Given the description of an element on the screen output the (x, y) to click on. 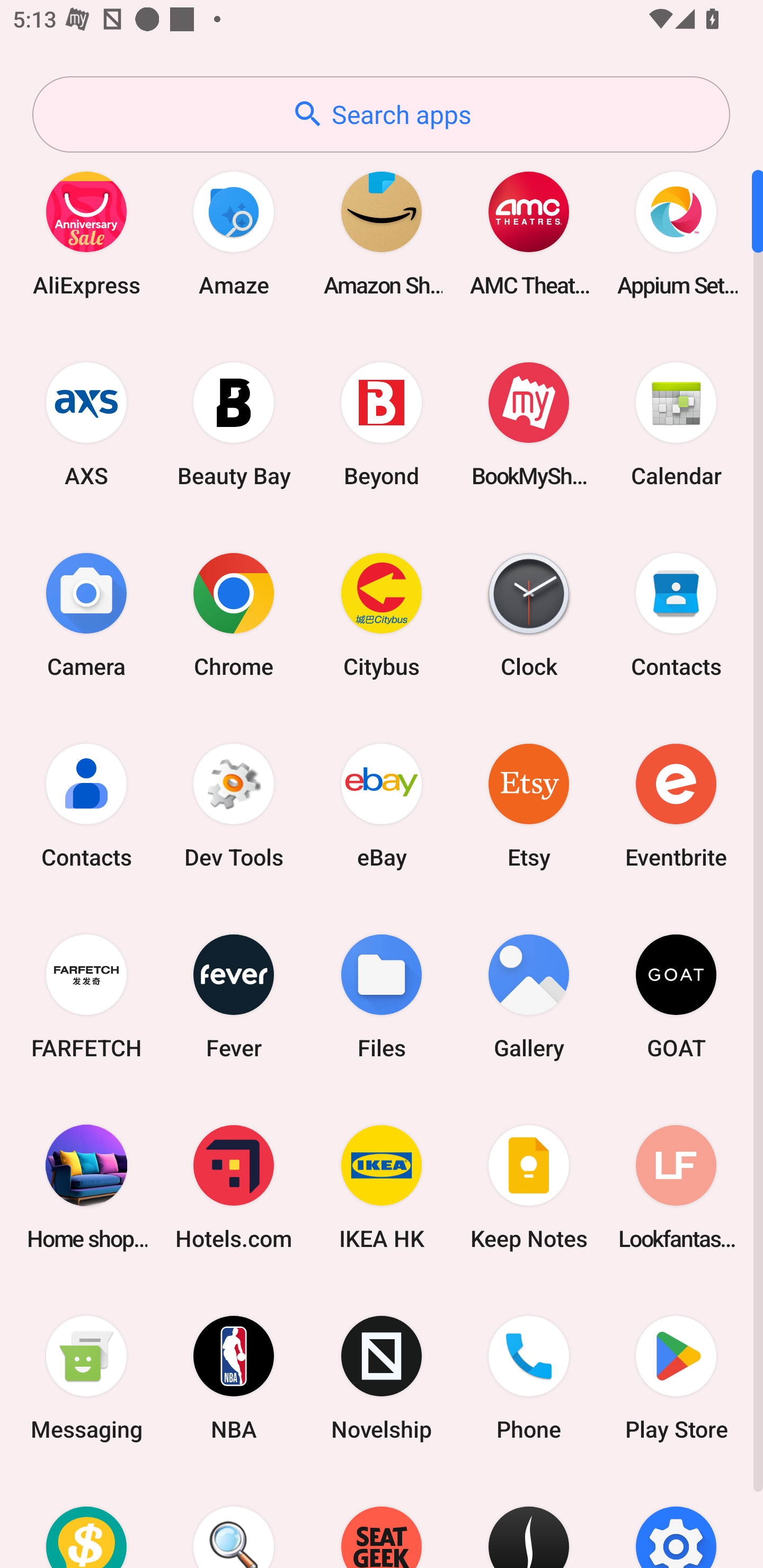
  Search apps (381, 114)
AliExpress (86, 233)
Amaze (233, 233)
Amazon Shopping (381, 233)
AMC Theatres (528, 233)
Appium Settings (676, 233)
AXS (86, 424)
Beauty Bay (233, 424)
Beyond (381, 424)
BookMyShow (528, 424)
Calendar (676, 424)
Camera (86, 614)
Chrome (233, 614)
Citybus (381, 614)
Clock (528, 614)
Contacts (676, 614)
Contacts (86, 805)
Dev Tools (233, 805)
eBay (381, 805)
Etsy (528, 805)
Eventbrite (676, 805)
FARFETCH (86, 996)
Fever (233, 996)
Files (381, 996)
Gallery (528, 996)
GOAT (676, 996)
Home shopping (86, 1186)
Hotels.com (233, 1186)
IKEA HK (381, 1186)
Keep Notes (528, 1186)
Lookfantastic (676, 1186)
Messaging (86, 1377)
NBA (233, 1377)
Novelship (381, 1377)
Phone (528, 1377)
Play Store (676, 1377)
Price (86, 1520)
Search (233, 1520)
SeatGeek (381, 1520)
Sephora (528, 1520)
Settings (676, 1520)
